Given the description of an element on the screen output the (x, y) to click on. 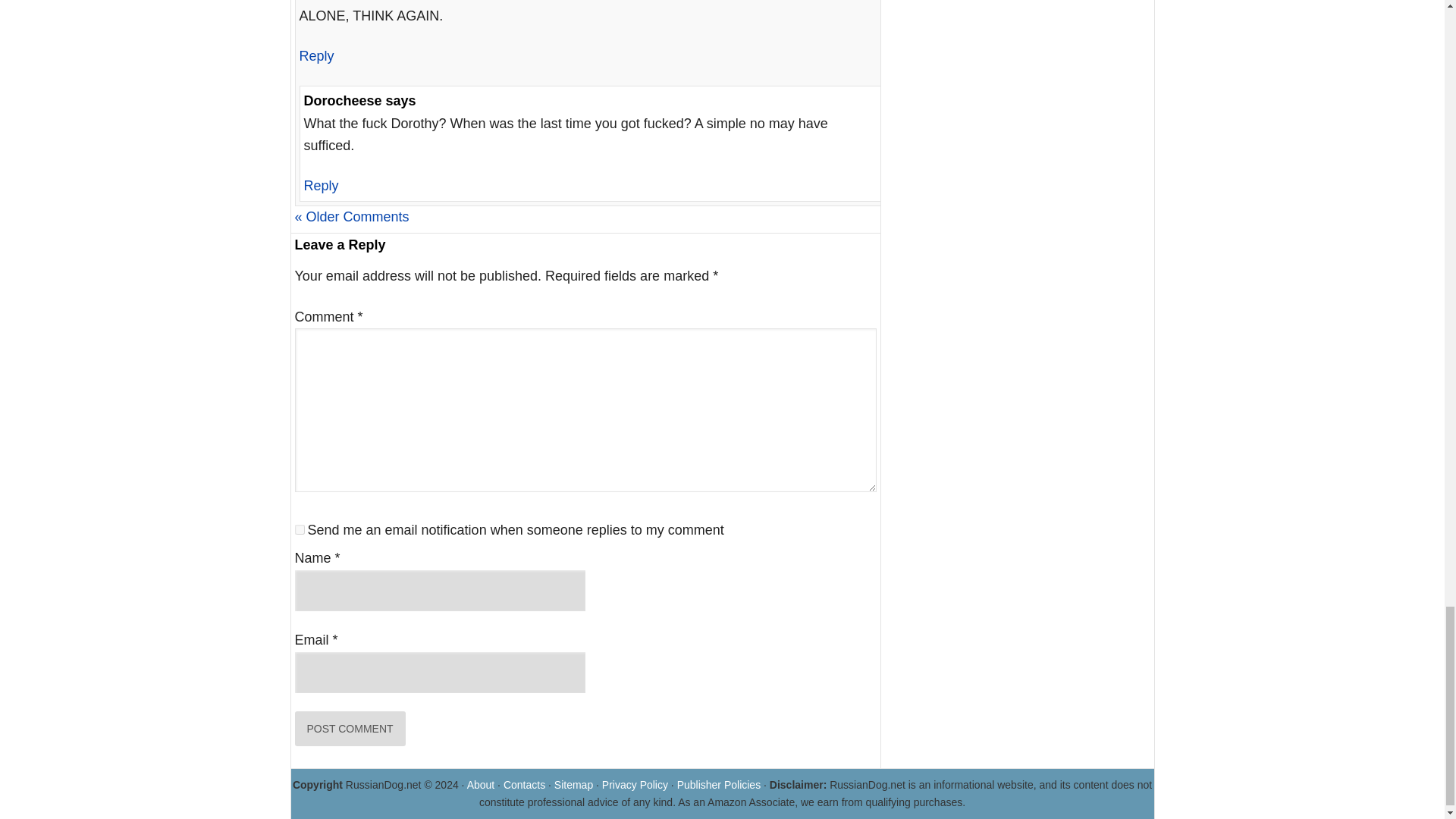
Post Comment (349, 728)
Reply (319, 185)
1 (299, 529)
Post Comment (349, 728)
Reply (315, 55)
